Given the description of an element on the screen output the (x, y) to click on. 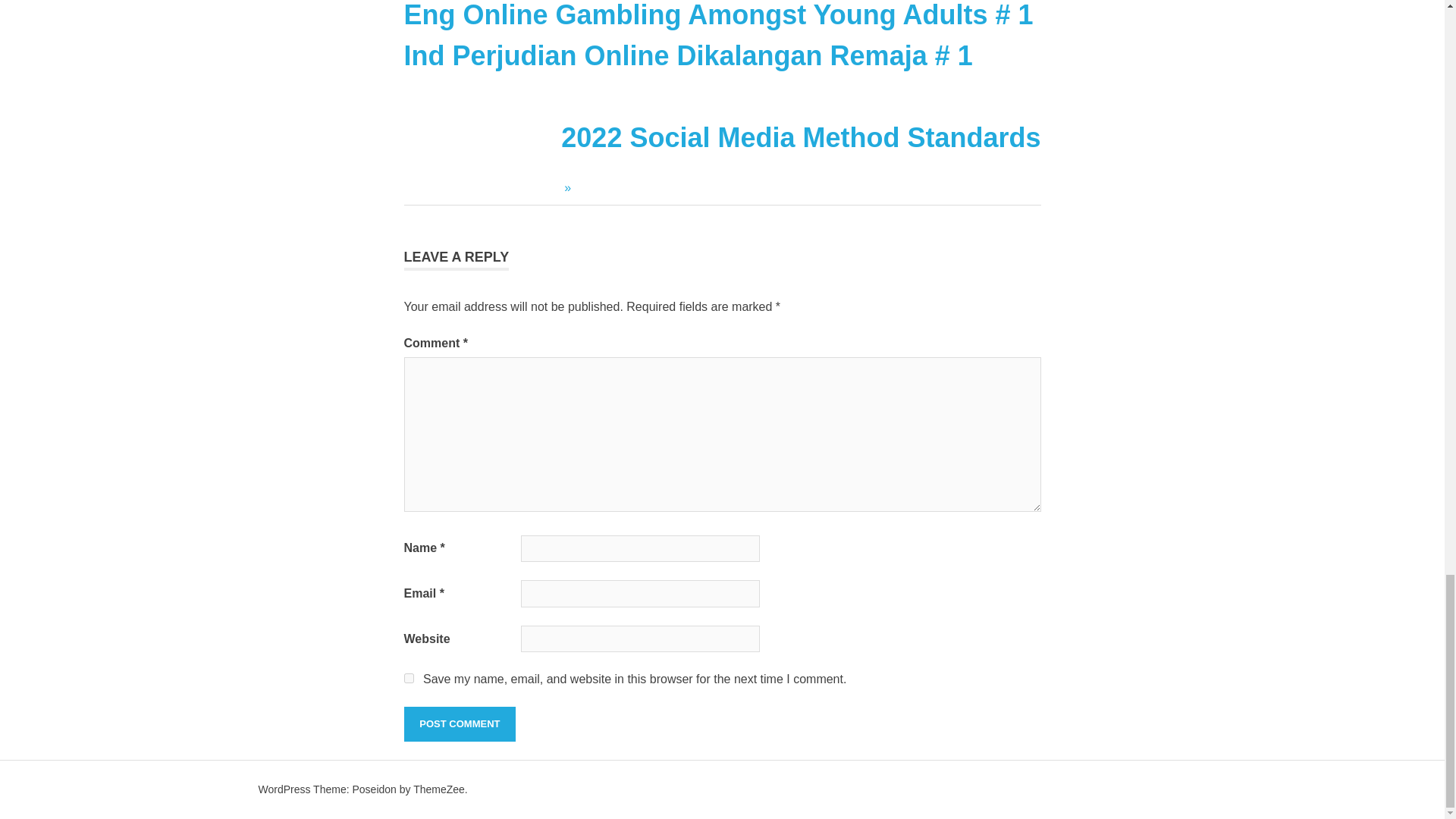
Post Comment (459, 724)
Post Comment (800, 155)
yes (459, 724)
